Given the description of an element on the screen output the (x, y) to click on. 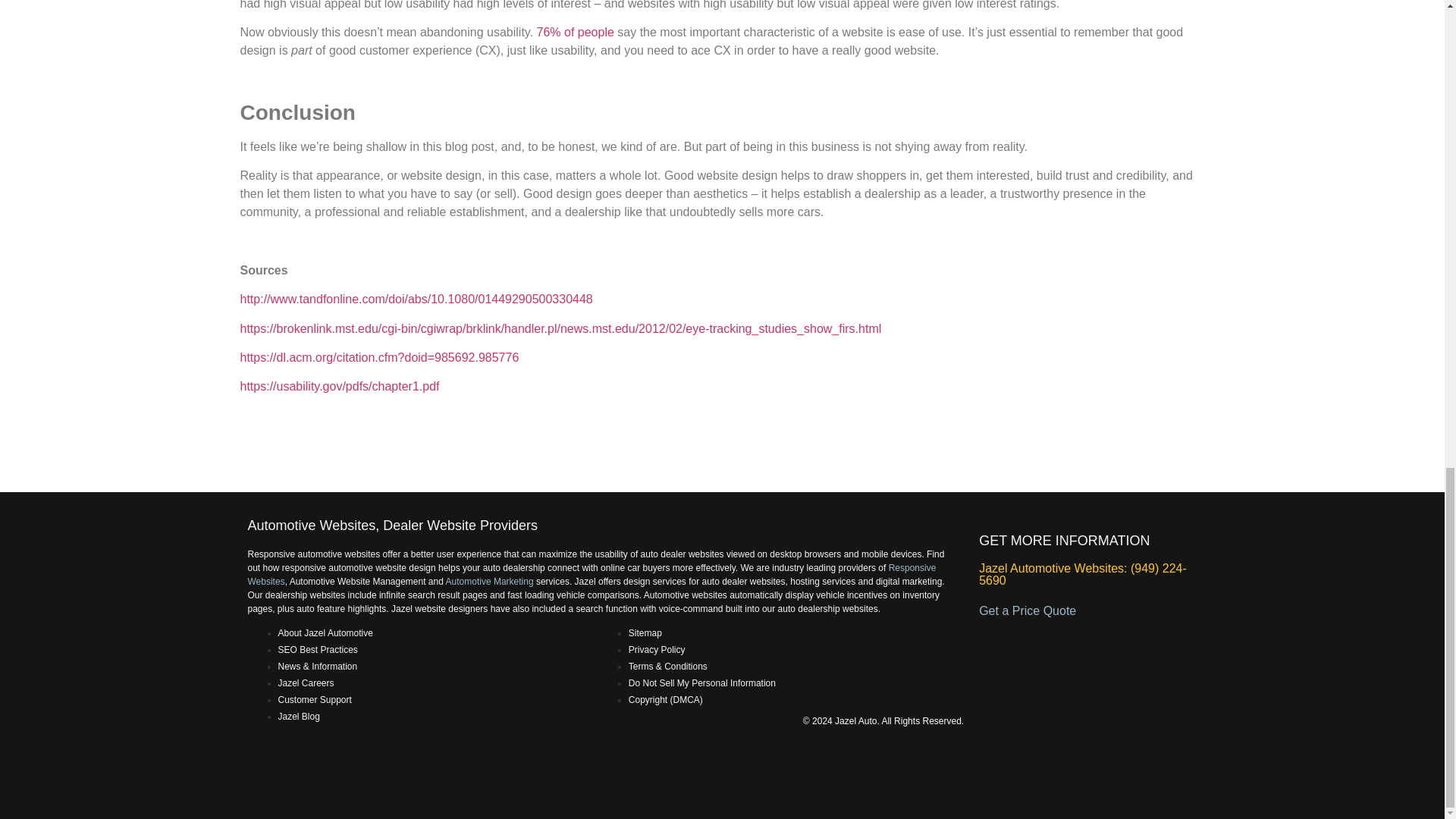
Customer Support (314, 699)
Sitemap (645, 633)
SEO Best Practices (317, 649)
Jazel Careers (305, 683)
Get a Price Quote (1026, 610)
Privacy Policy (656, 649)
About Jazel Automotive (325, 633)
Responsive Websites (591, 574)
Automotive Marketing (489, 581)
Jazel Blog (298, 716)
Do Not Sell My Personal Information (702, 683)
